Given the description of an element on the screen output the (x, y) to click on. 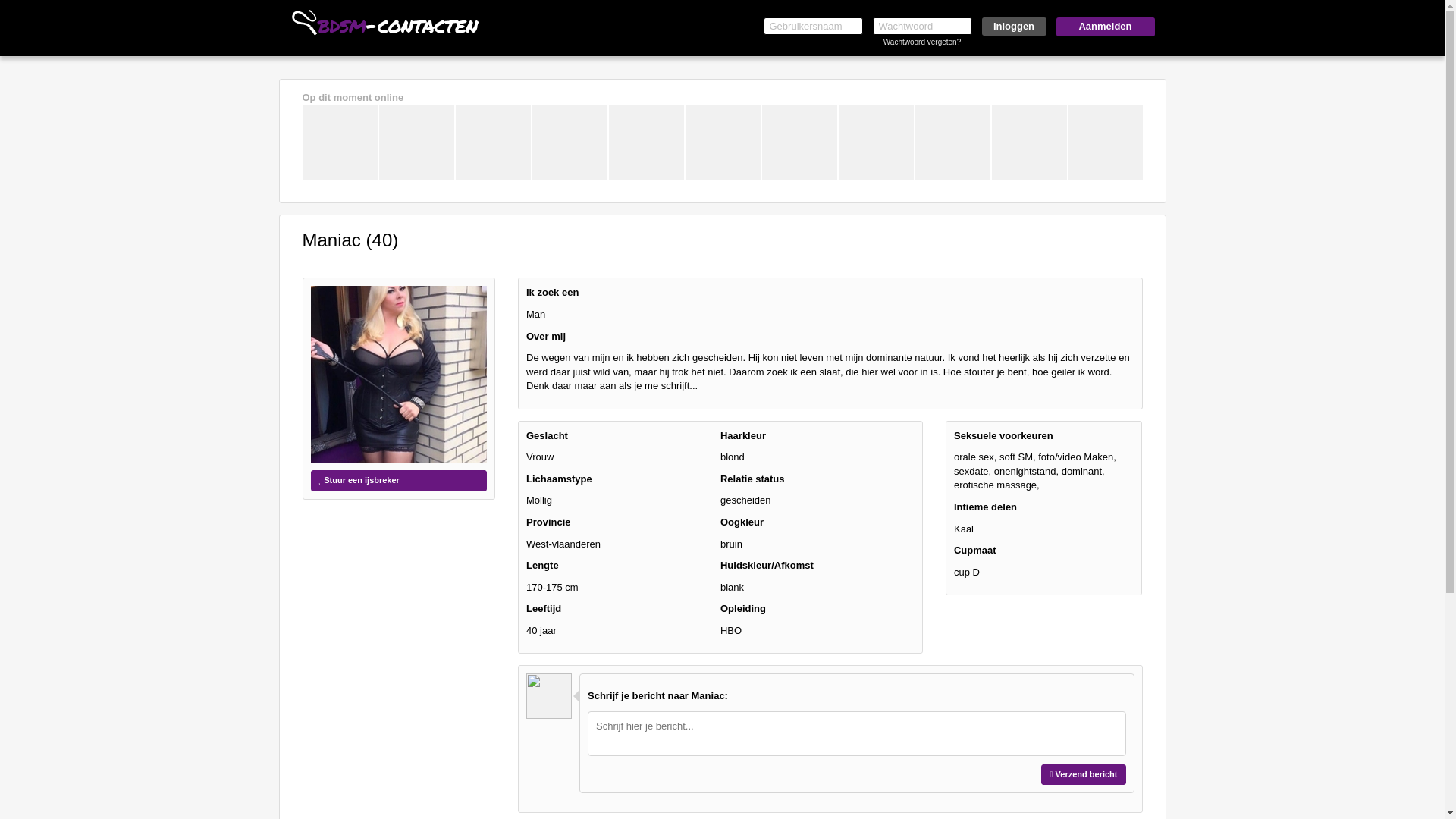
Wachtwoord vergeten? Element type: text (921, 41)
Inloggen Element type: text (1013, 26)
Stuur een ijsbreker Element type: text (398, 480)
Aanmelden Element type: text (1104, 26)
